Given the description of an element on the screen output the (x, y) to click on. 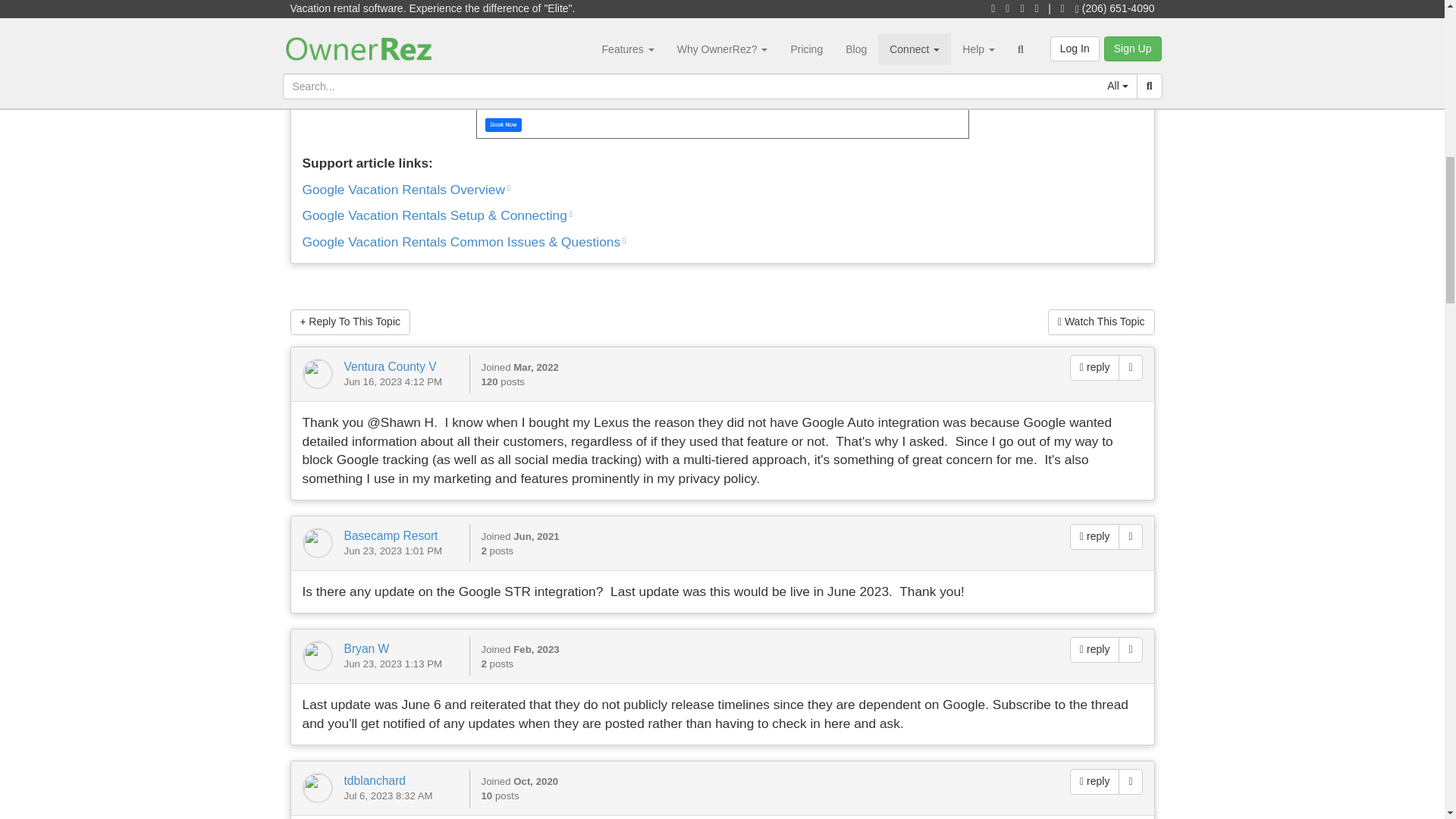
Permanent link (1129, 536)
Permanent link (1129, 781)
Permanent link (1129, 649)
Permanent link (1129, 367)
